Given the description of an element on the screen output the (x, y) to click on. 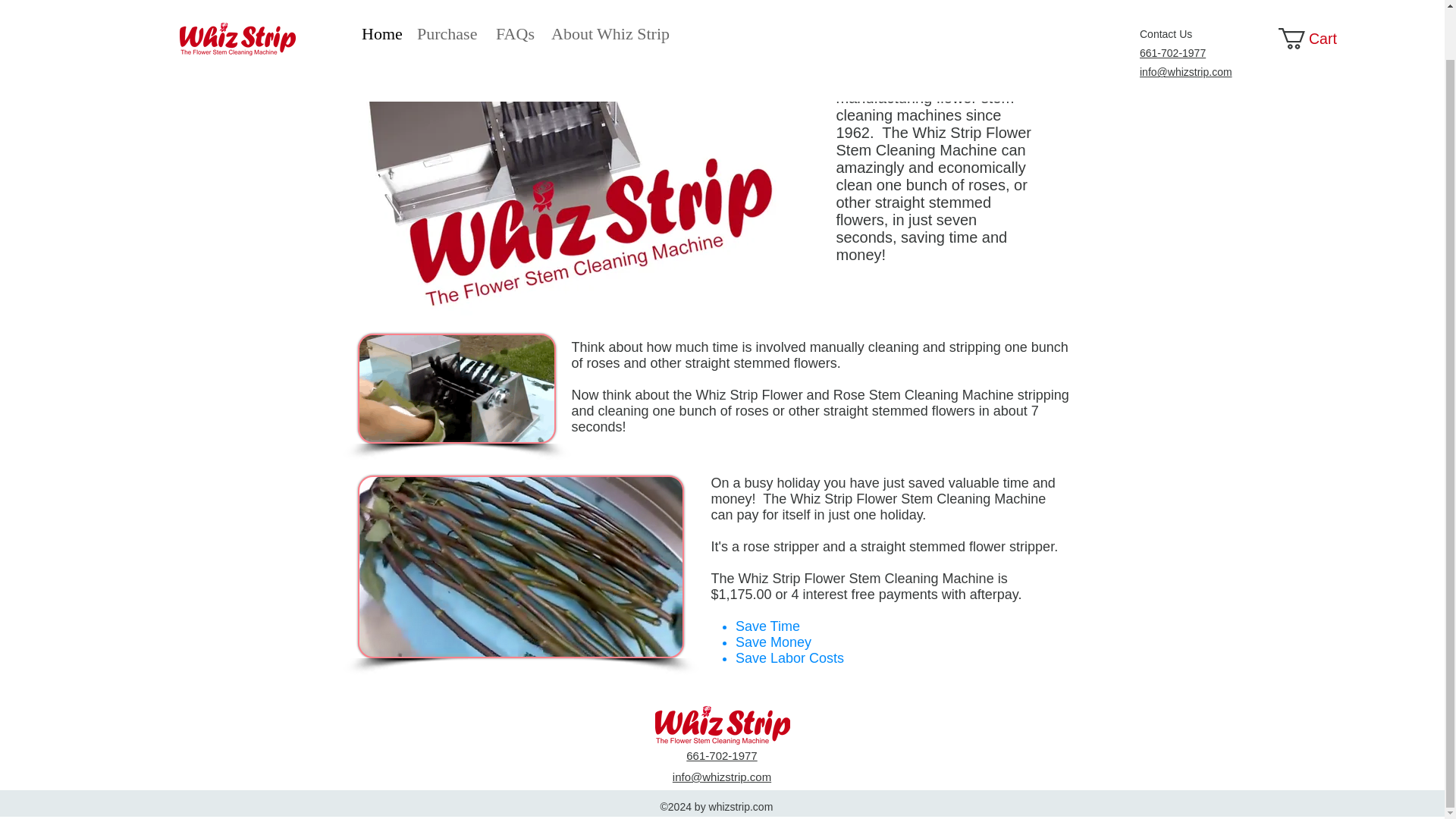
Cleaned and Dethorned in 7 Seconds! (521, 566)
661-702-1977 (1172, 2)
stemstripcropped.GIF (457, 388)
661-702-1977 (721, 755)
